Given the description of an element on the screen output the (x, y) to click on. 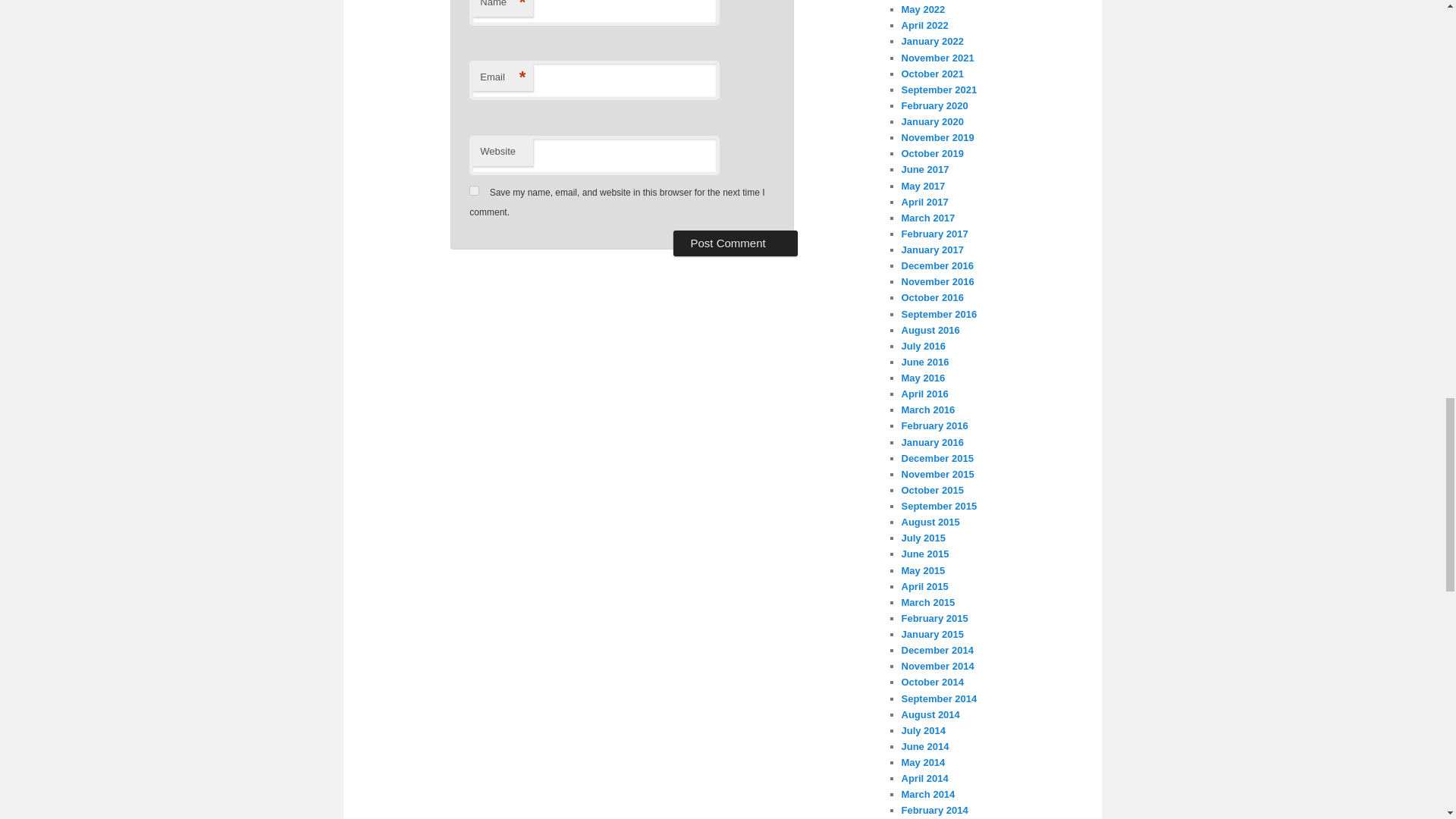
April 2022 (924, 25)
October 2021 (931, 73)
February 2020 (934, 105)
yes (473, 190)
September 2021 (938, 89)
May 2022 (922, 9)
Post Comment (734, 243)
November 2021 (937, 57)
January 2022 (931, 41)
Post Comment (734, 243)
